Given the description of an element on the screen output the (x, y) to click on. 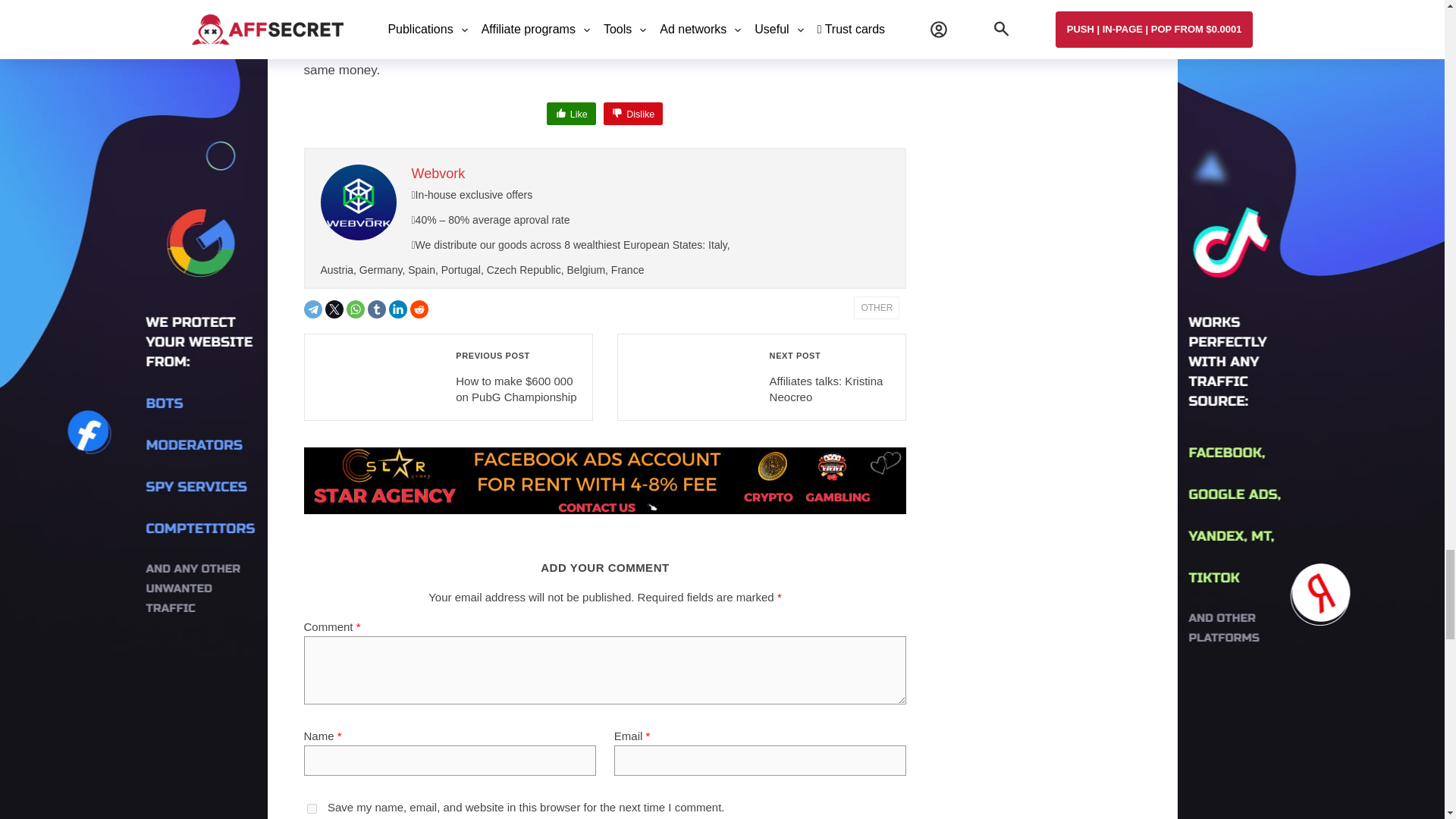
Telegram (311, 309)
yes (310, 808)
LinkedIn (397, 309)
WhatsApp (355, 309)
reddit (418, 309)
Tumblr (375, 309)
Twitter (333, 309)
